Given the description of an element on the screen output the (x, y) to click on. 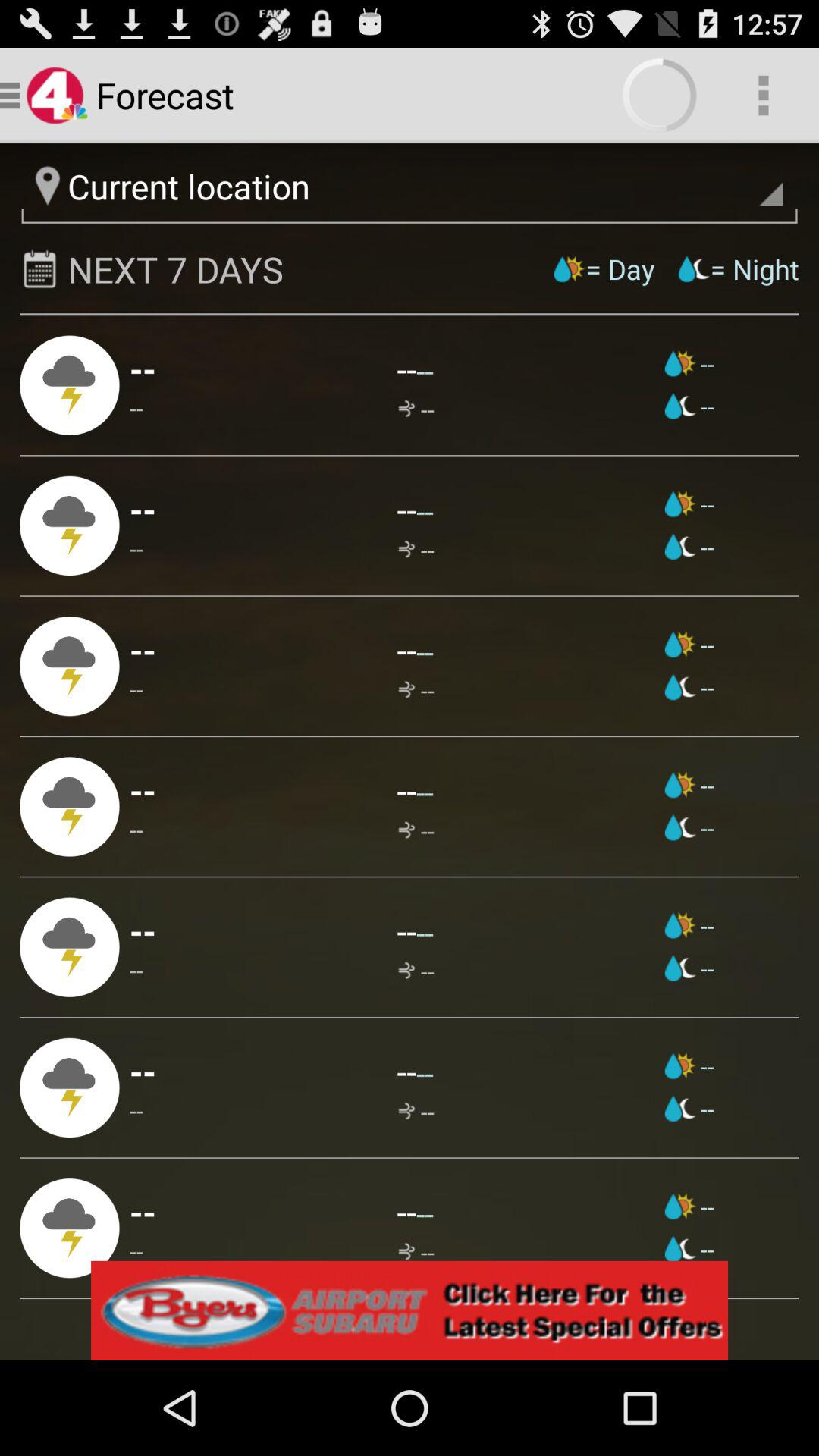
select the icon below -- icon (142, 1071)
